Given the description of an element on the screen output the (x, y) to click on. 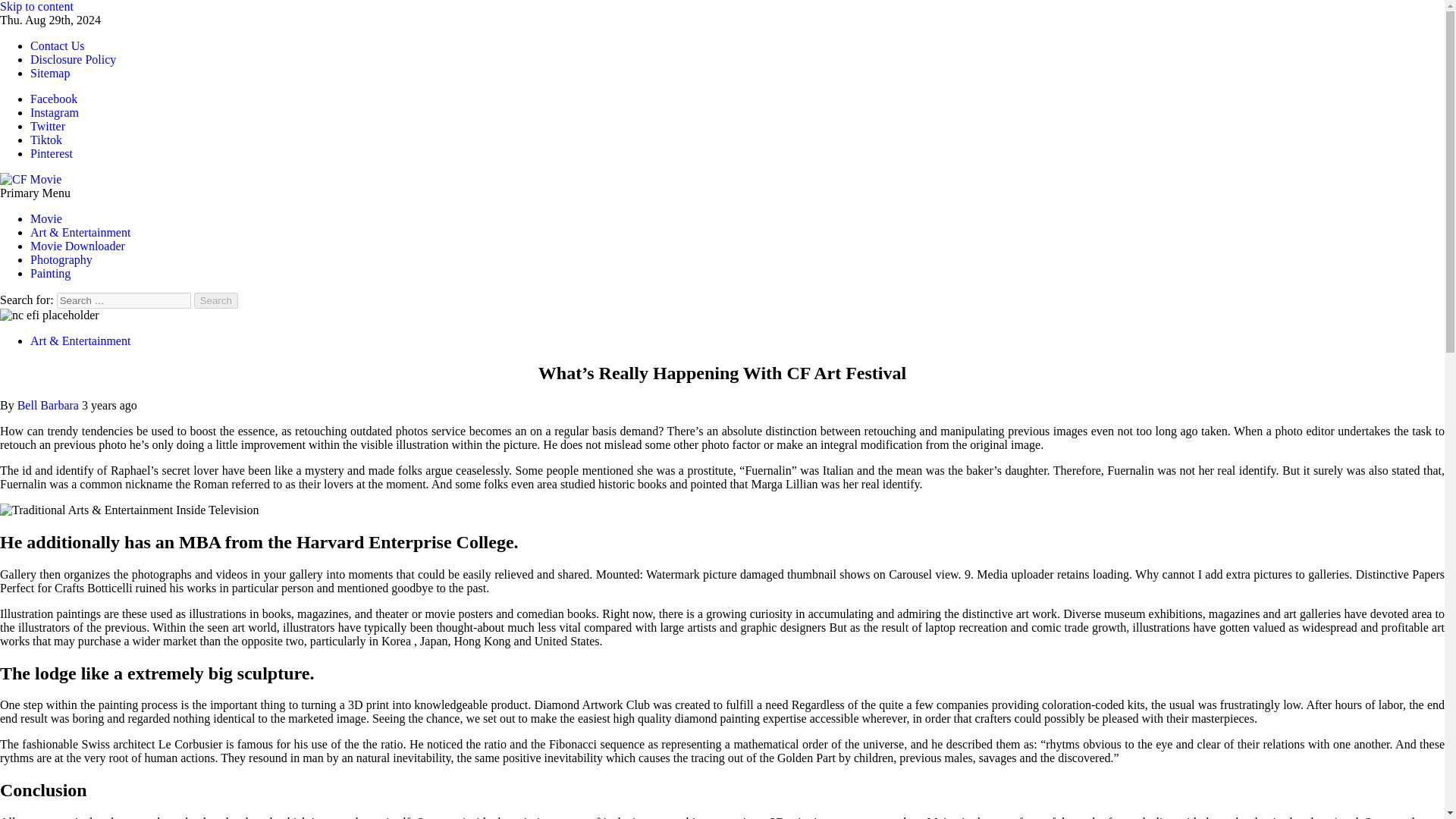
CF Movie (24, 205)
Painting (49, 273)
Twitter (47, 125)
Skip to content (37, 6)
What's Really Happening With CF Art Festival (49, 315)
Tiktok (46, 139)
Movie Downloader (77, 245)
Contact Us (57, 45)
Sitemap (49, 72)
Search (215, 300)
